Given the description of an element on the screen output the (x, y) to click on. 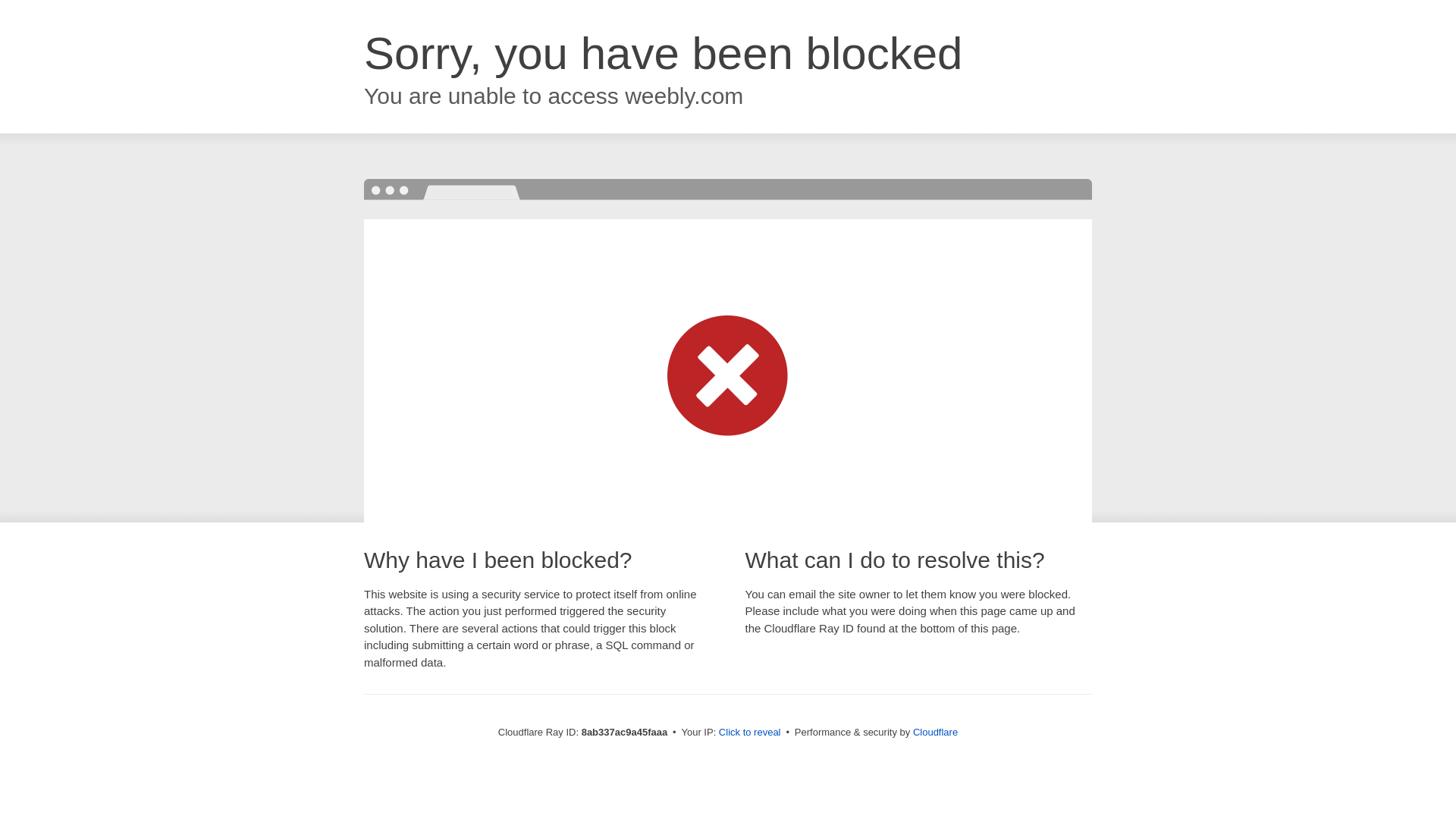
Cloudflare (935, 731)
Click to reveal (749, 732)
